Given the description of an element on the screen output the (x, y) to click on. 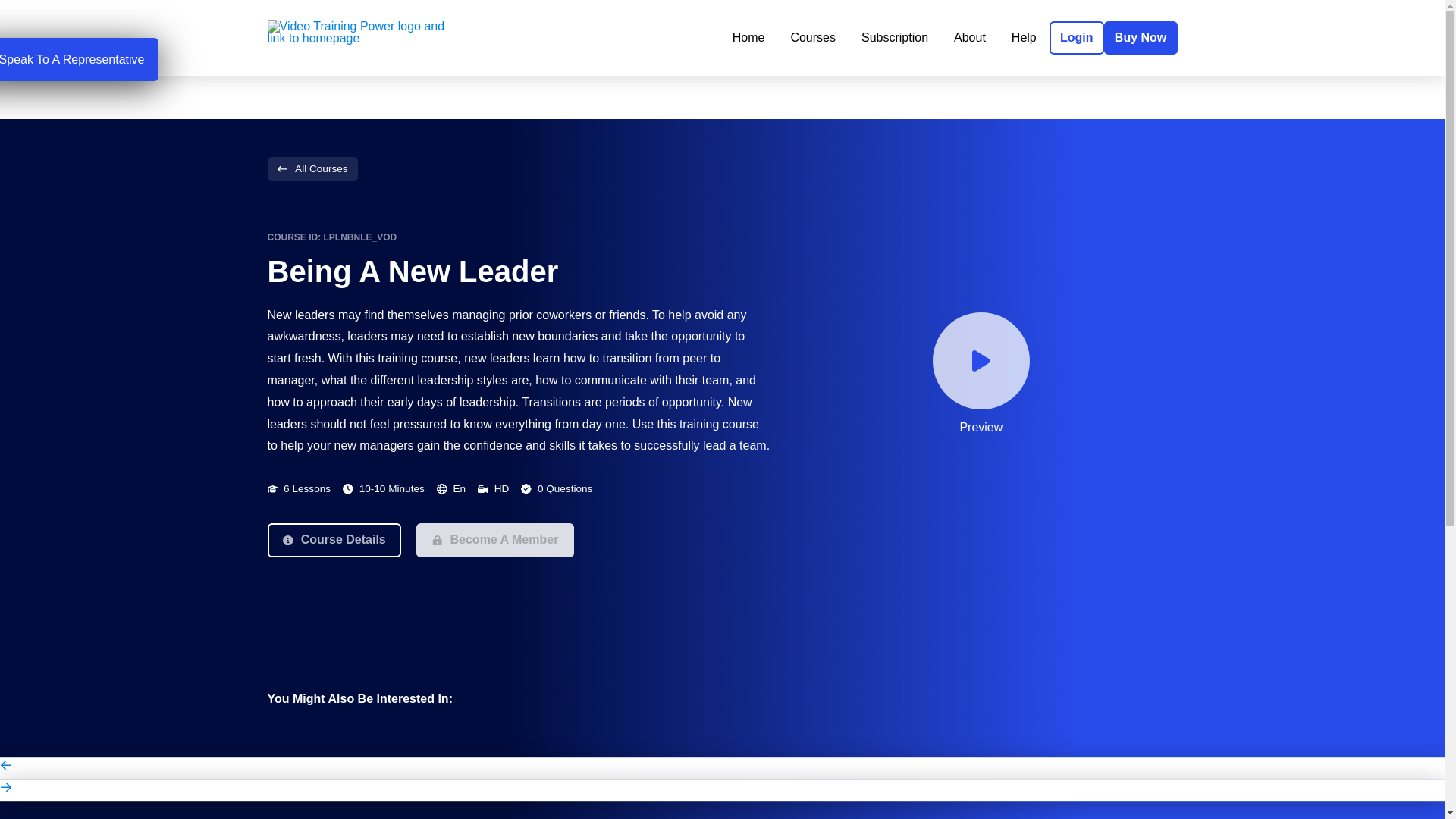
Buy Now (1140, 37)
Subscription (894, 38)
Courses (812, 38)
All Courses (311, 168)
Login (1076, 37)
Become A Member (494, 539)
